Given the description of an element on the screen output the (x, y) to click on. 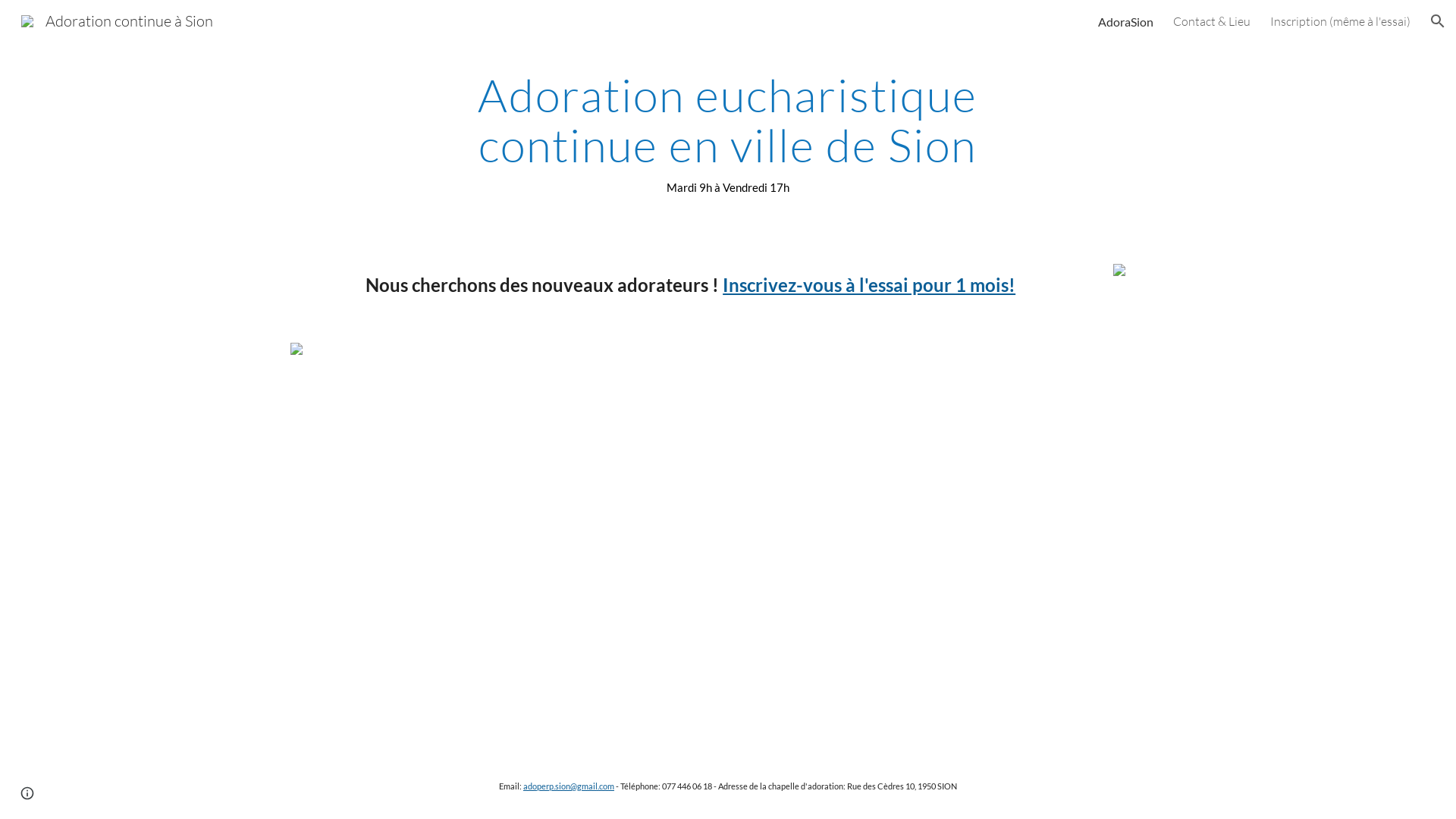
AdoraSion Element type: text (1125, 20)
adoperp.sion@gmail.com Element type: text (568, 784)
Contact & Lieu Element type: text (1211, 20)
